Given the description of an element on the screen output the (x, y) to click on. 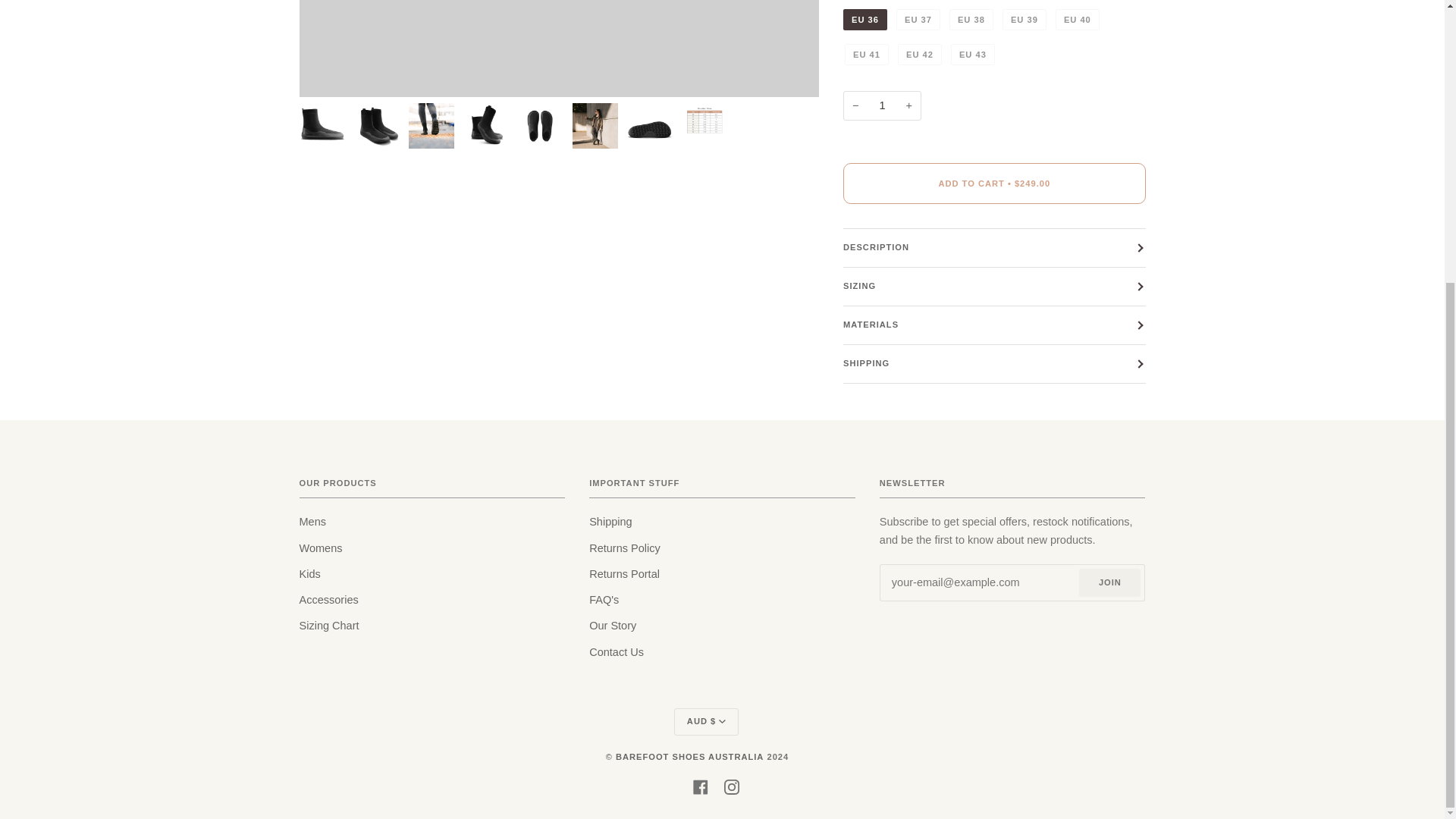
Instagram (731, 786)
1 (882, 105)
Facebook (700, 786)
